Given the description of an element on the screen output the (x, y) to click on. 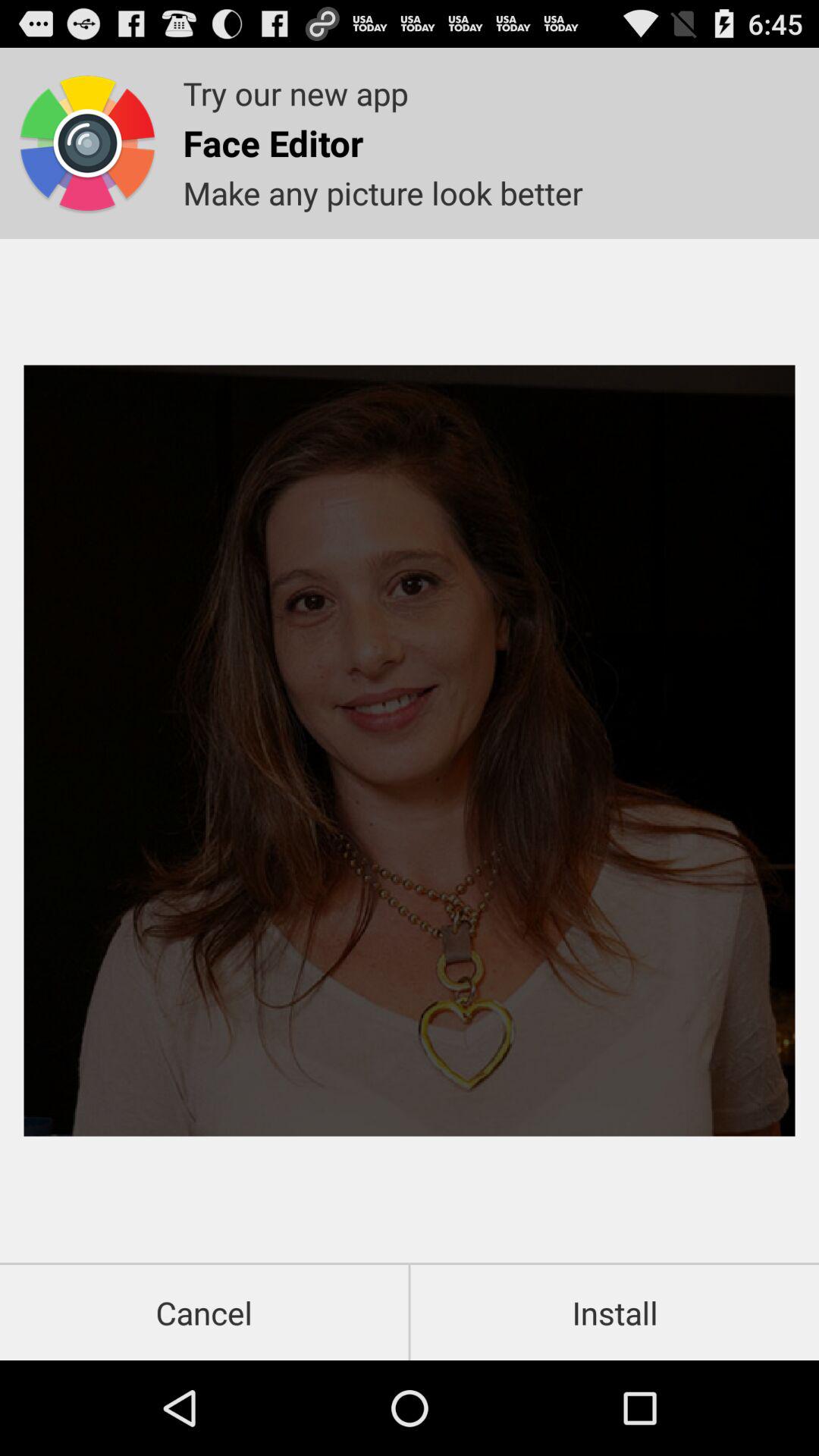
turn on icon at the bottom left corner (204, 1312)
